Given the description of an element on the screen output the (x, y) to click on. 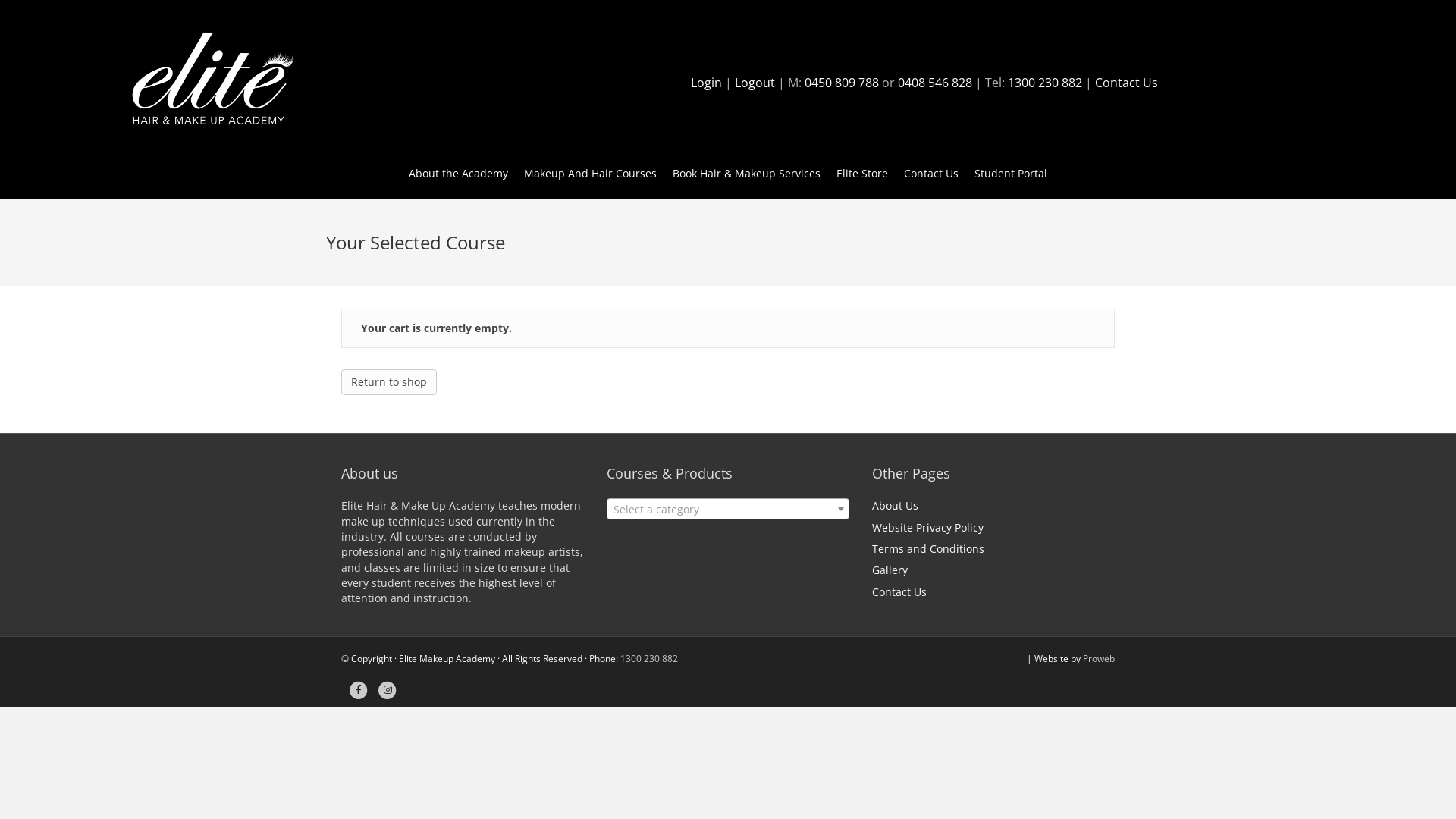
Student Portal Element type: text (1010, 173)
Return to shop Element type: text (388, 382)
About the Academy Element type: text (458, 173)
Elite-White-logo-150 Element type: hover (210, 83)
Logout Element type: text (754, 82)
0408 546 828 Element type: text (934, 82)
Terms and Conditions Element type: text (928, 548)
0450 809 788 Element type: text (840, 82)
Login Element type: text (705, 82)
Gallery Element type: text (889, 569)
Makeup And Hair Courses Element type: text (590, 173)
1300 230 882 Element type: text (1044, 82)
Contact Us Element type: text (931, 173)
Facebook Element type: text (358, 689)
1300 230 882 Element type: text (648, 658)
Contact Us Element type: text (1126, 82)
Contact Us Element type: text (899, 591)
Website Privacy Policy Element type: text (927, 527)
Instagram Element type: text (387, 689)
Elite Store Element type: text (861, 173)
Proweb Element type: text (1098, 658)
About Us Element type: text (895, 505)
Book Hair & Makeup Services Element type: text (746, 173)
